Given the description of an element on the screen output the (x, y) to click on. 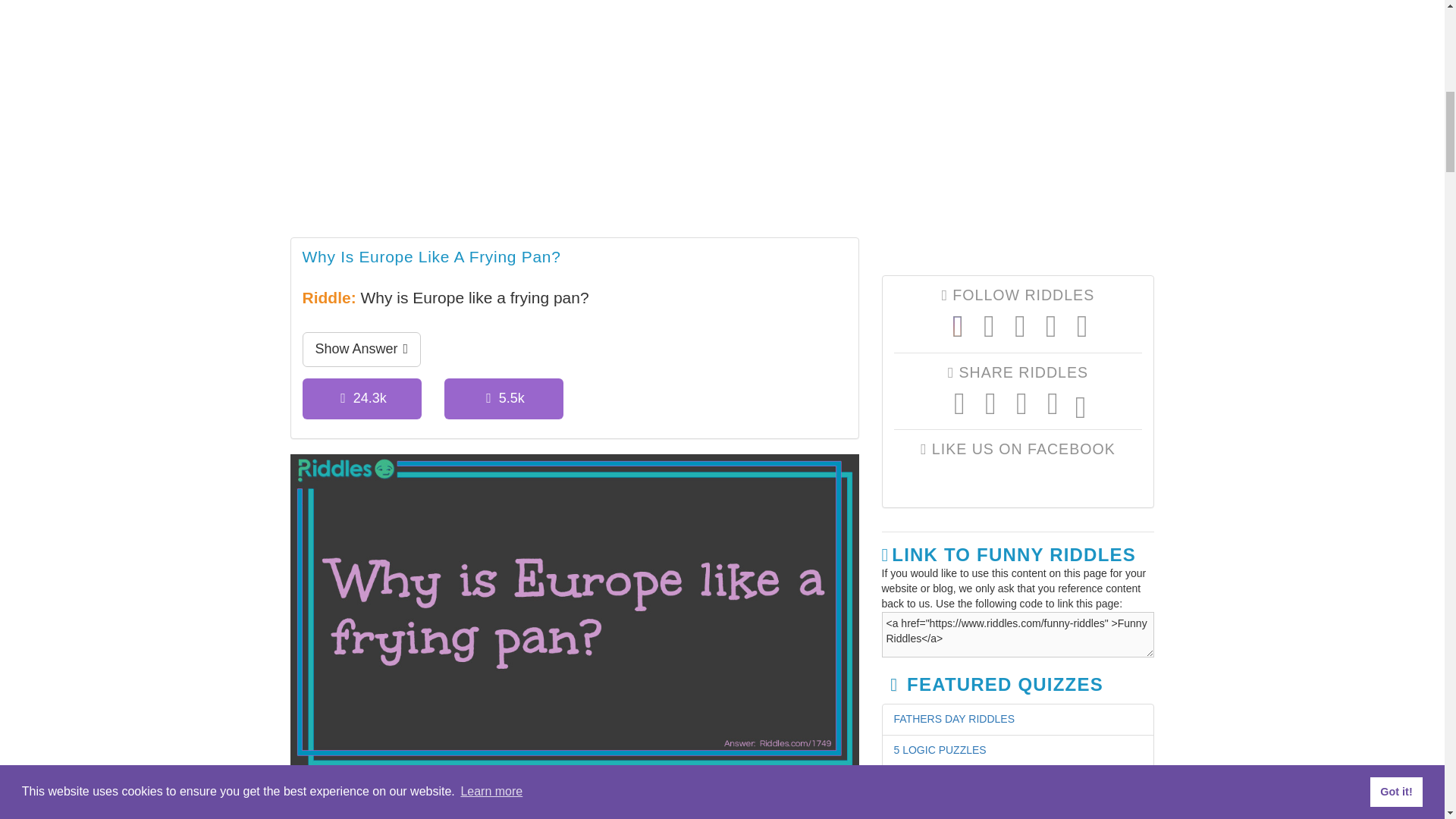
Why Is Europe Like A Frying Pan? (430, 258)
Funny Riddles (574, 110)
Not A Single Hair On His Head Got Wet Riddle (476, 809)
Show Answer (360, 349)
